Given the description of an element on the screen output the (x, y) to click on. 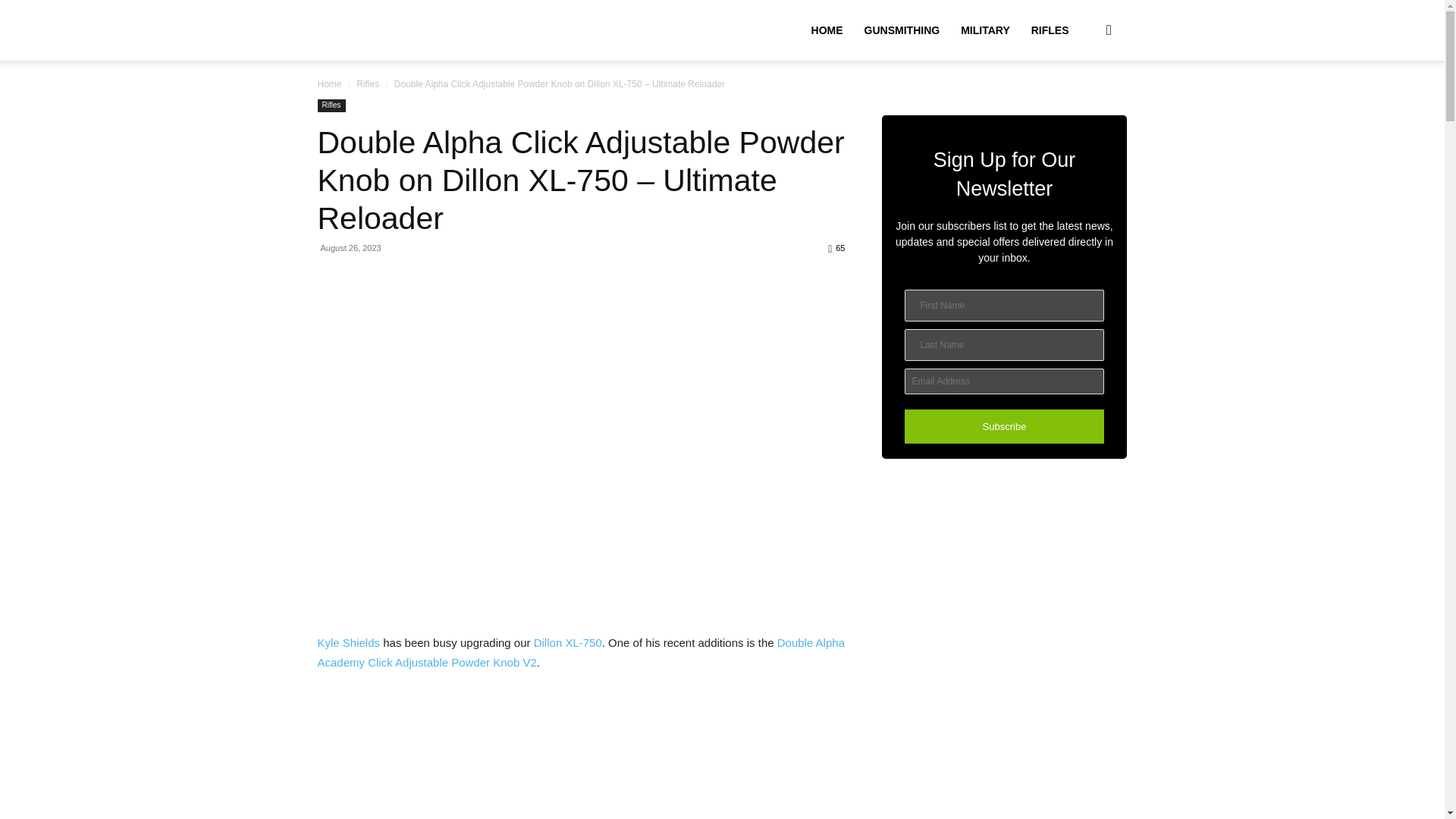
Search (1085, 102)
View all posts in Rifles (367, 83)
Kyle Shields (348, 642)
Subscribe (1003, 426)
Double Alpha Click Adjustable Powder Knob on Dillon XL-750 (580, 755)
Home (328, 83)
Rifles (367, 83)
Double Alpha Academy Click Adjustable Powder Knob V2 (580, 652)
MILITARY (985, 30)
RIFLES (1050, 30)
